Given the description of an element on the screen output the (x, y) to click on. 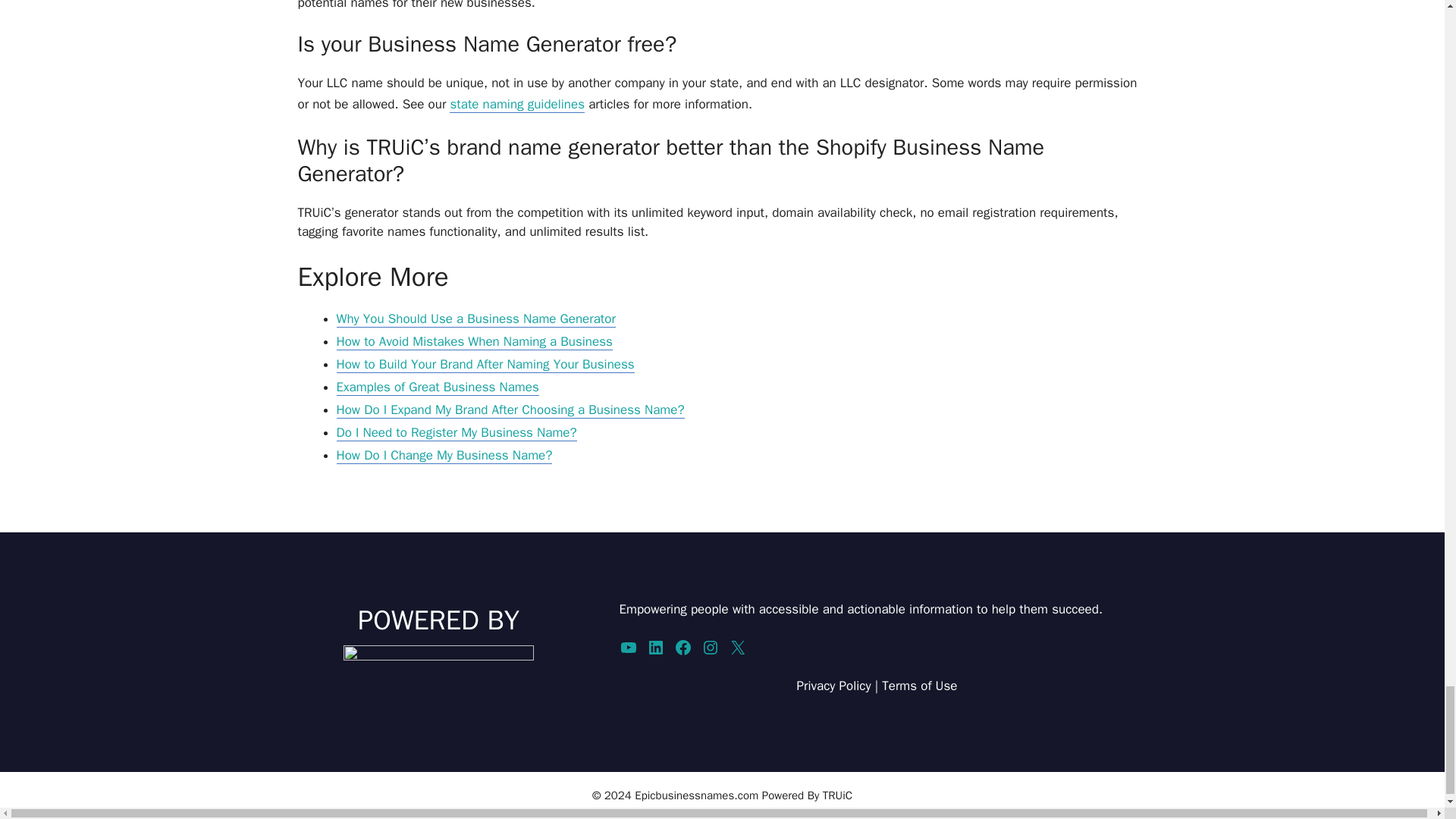
How to Build Your Brand After Naming Your Business (485, 364)
Why You Should Use a Business Name Generator (475, 319)
state naming guidelines (517, 104)
How to Avoid Mistakes When Naming a Business (474, 341)
